Given the description of an element on the screen output the (x, y) to click on. 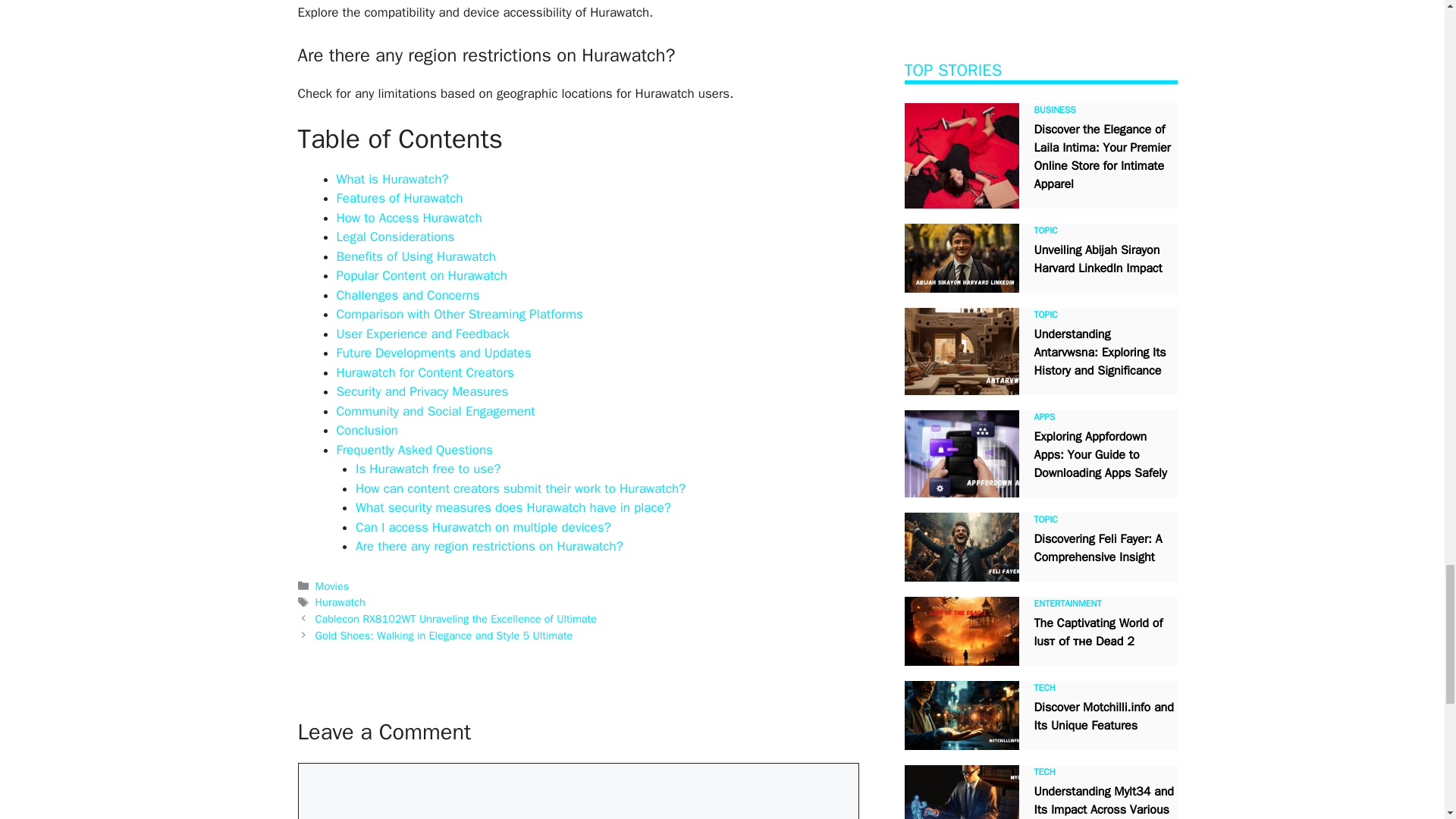
Conclusion (366, 430)
Is Hurawatch free to use? (427, 468)
What security measures does Hurawatch have in place? (513, 507)
User Experience and Feedback (422, 333)
What is Hurawatch? (392, 179)
How can content creators submit their work to Hurawatch? (520, 488)
Gold Shoes: Walking in Elegance and Style 5 Ultimate (444, 635)
Benefits of Using Hurawatch (416, 256)
Comparison with Other Streaming Platforms (459, 314)
Challenges and Concerns (408, 295)
Community and Social Engagement (435, 411)
Future Developments and Updates (433, 352)
Hurawatch (340, 602)
Hurawatch for Content Creators (424, 372)
Security and Privacy Measures (422, 391)
